Given the description of an element on the screen output the (x, y) to click on. 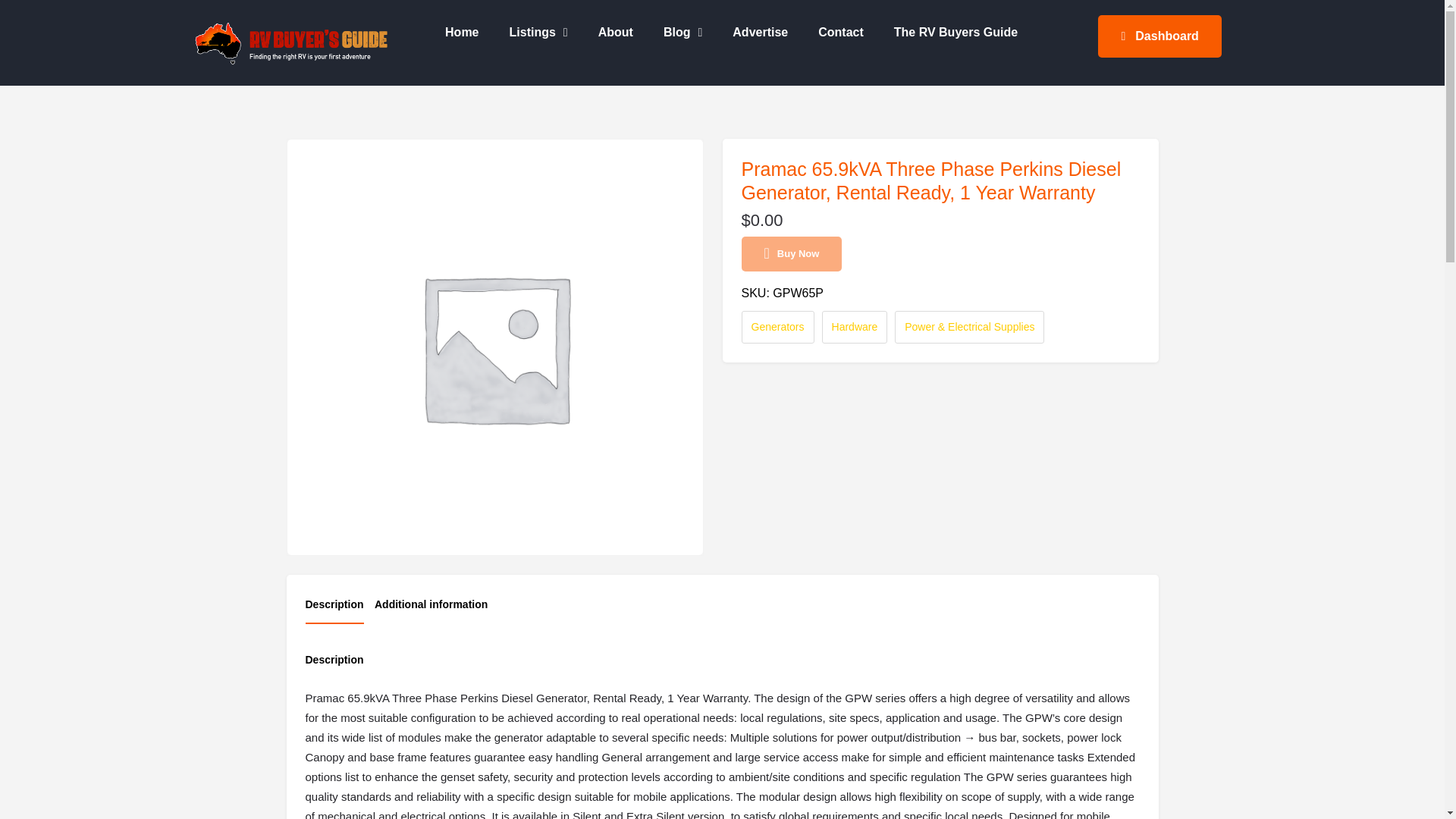
Advertise (760, 32)
Generators (777, 327)
Contact (841, 32)
Additional information (430, 608)
Home (461, 32)
Hardware (855, 327)
About (615, 32)
Listings (539, 32)
Dashboard (1159, 36)
Buy Now (792, 253)
Description (333, 609)
Blog (682, 32)
The RV Buyers Guide (955, 32)
